Given the description of an element on the screen output the (x, y) to click on. 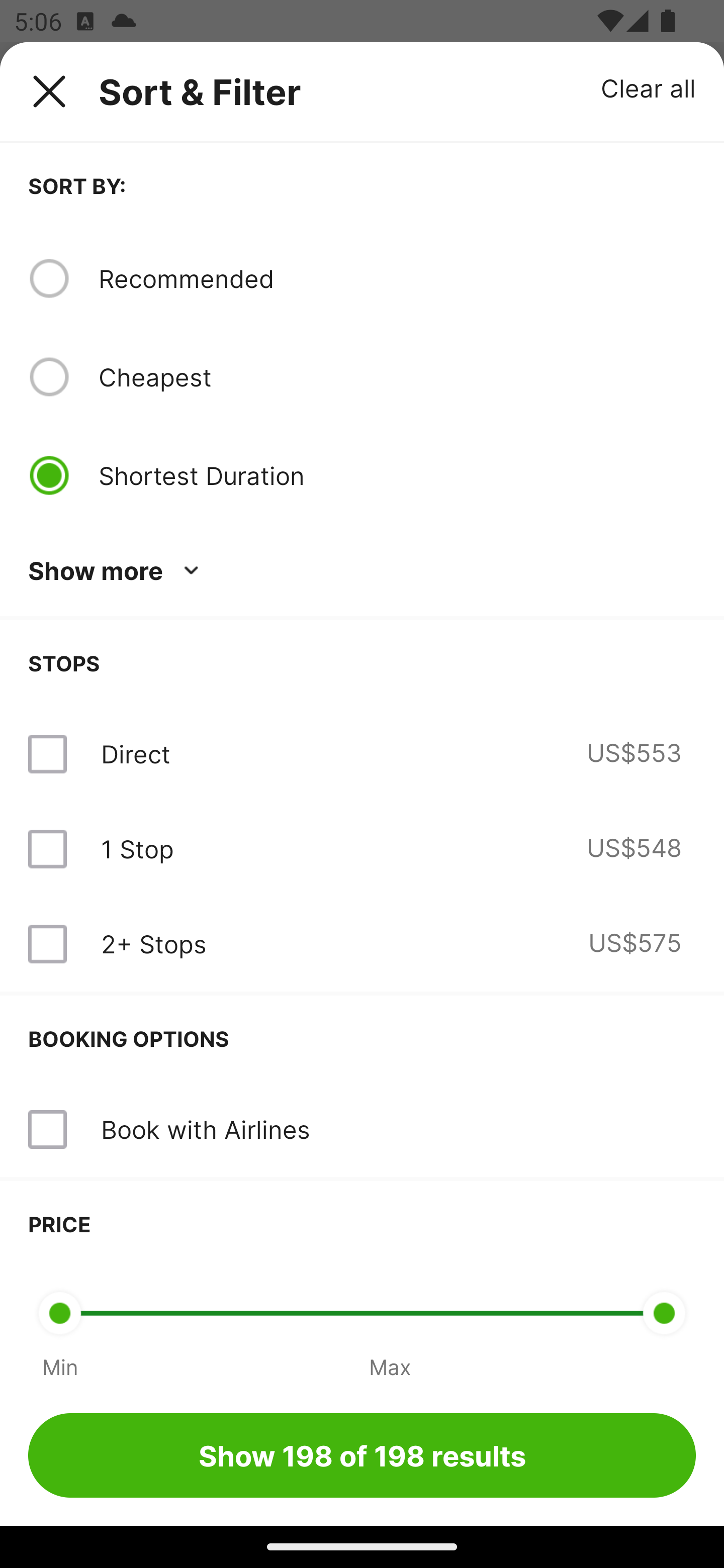
Clear all (648, 87)
Recommended  (396, 278)
Cheapest (396, 377)
Shortest Duration (396, 474)
Show more (116, 570)
Direct US$553 (362, 754)
Direct (135, 753)
1 Stop US$548 (362, 848)
1 Stop (136, 849)
2+ Stops US$575 (362, 943)
2+ Stops (153, 943)
Book with Airlines (362, 1129)
Book with Airlines (204, 1128)
Show 198 of 198 results (361, 1454)
